Given the description of an element on the screen output the (x, y) to click on. 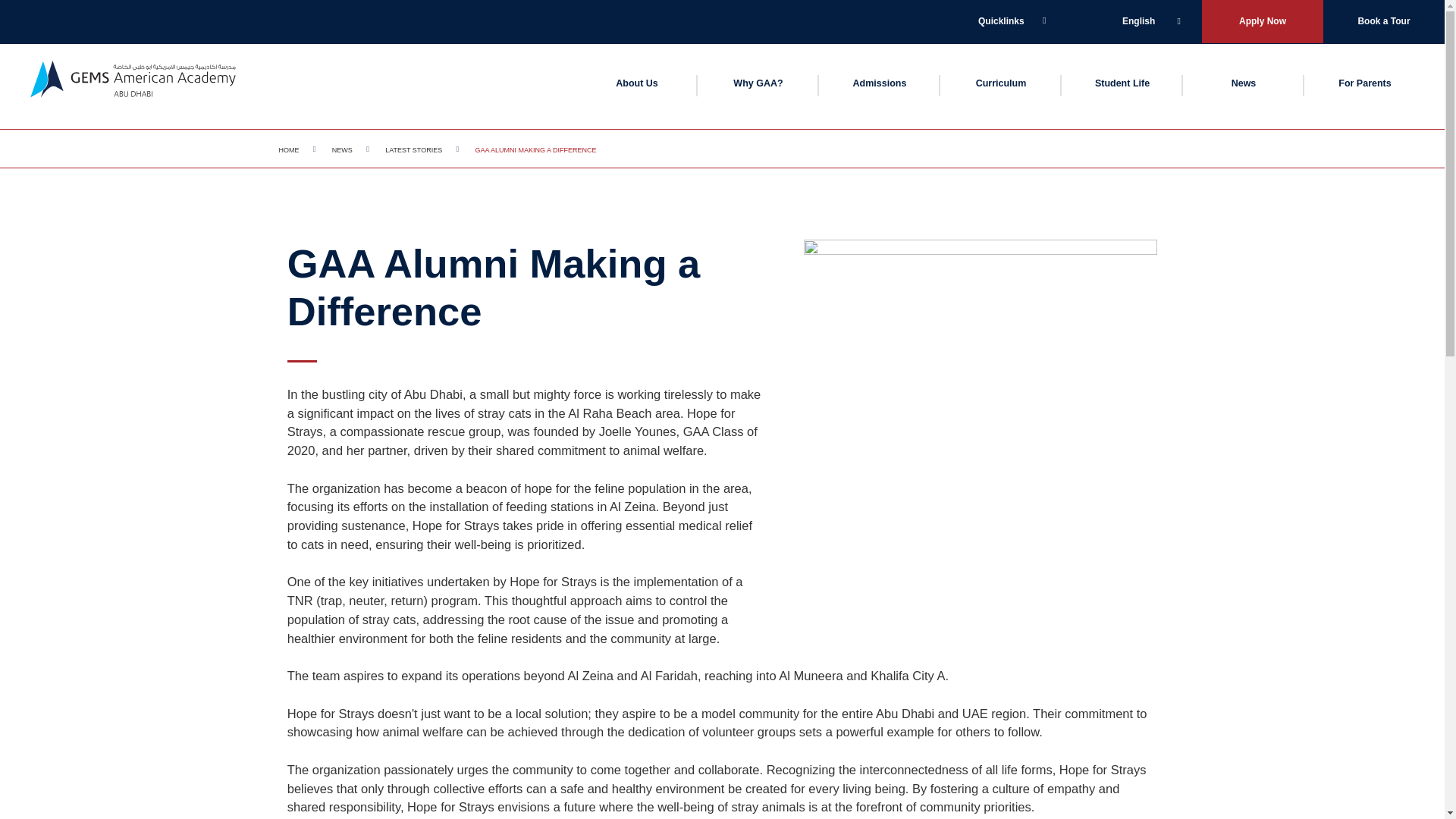
English (1150, 21)
Why GAA (758, 83)
Admissions (880, 83)
header-logo (133, 85)
Apply Now (1262, 21)
About Us (636, 83)
About Us (636, 83)
Why GAA? (758, 83)
